Given the description of an element on the screen output the (x, y) to click on. 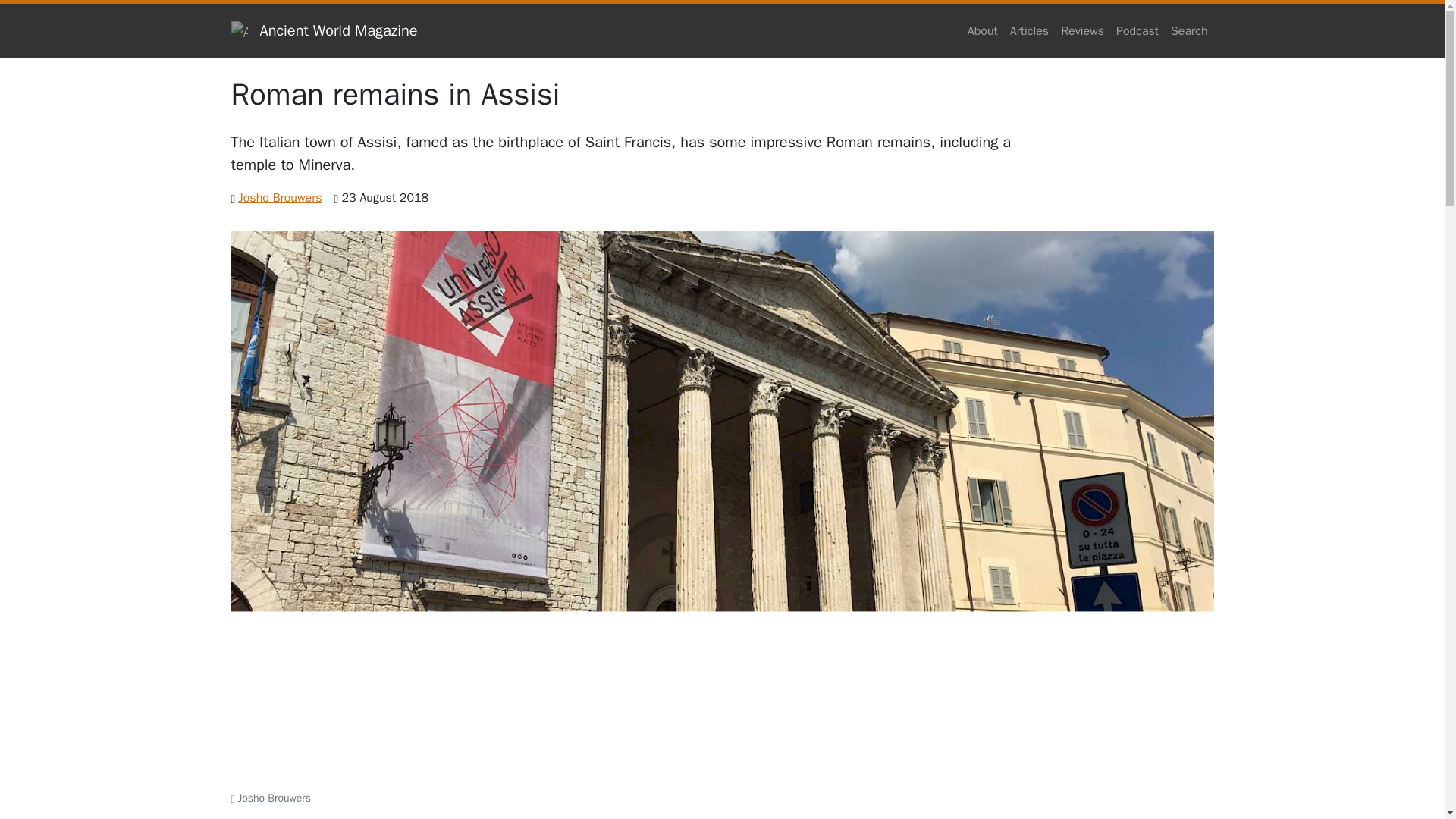
Josho Brouwers (279, 197)
Search (1189, 30)
Articles (1029, 30)
Podcast (1136, 30)
Ancient World Magazine (323, 30)
Reviews (1081, 30)
About (982, 30)
